Given the description of an element on the screen output the (x, y) to click on. 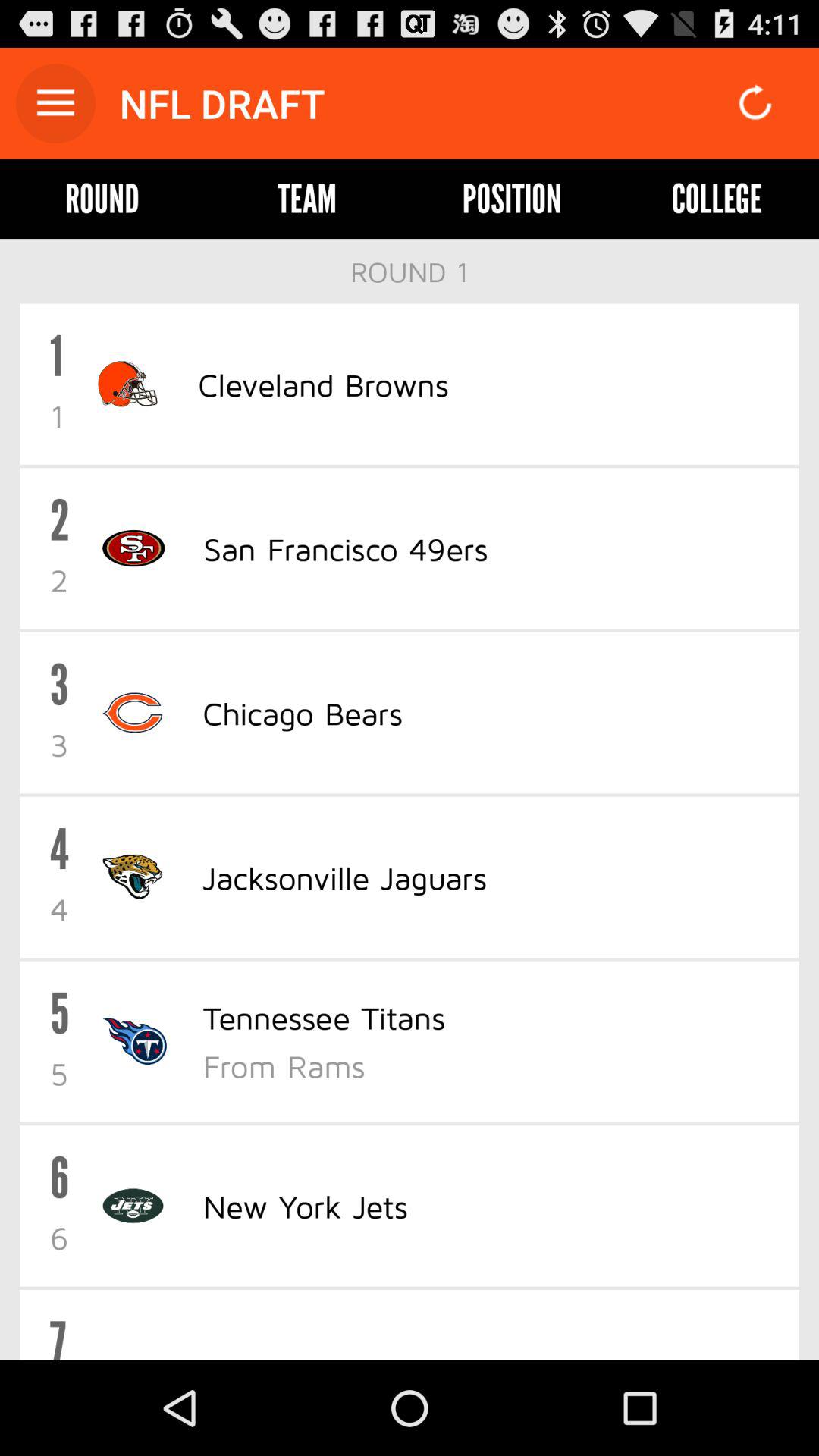
turn off the cleveland browns (322, 384)
